Given the description of an element on the screen output the (x, y) to click on. 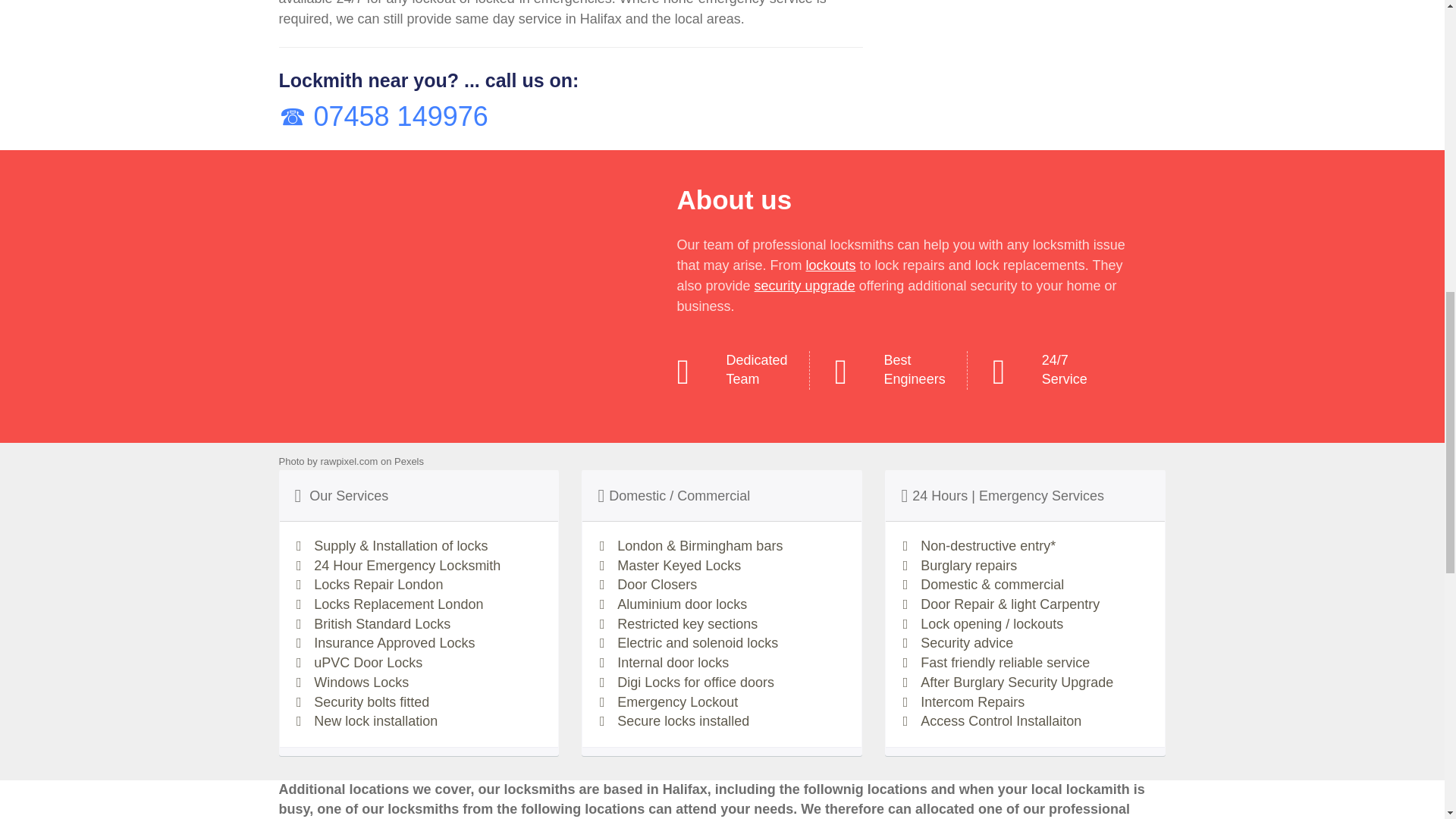
rawpixel.com (348, 460)
Pexels (408, 460)
lockouts (831, 264)
Halifax emergency locksmith lockout (831, 264)
security upgrade (805, 285)
Halifax Security upgrades (805, 285)
